Given the description of an element on the screen output the (x, y) to click on. 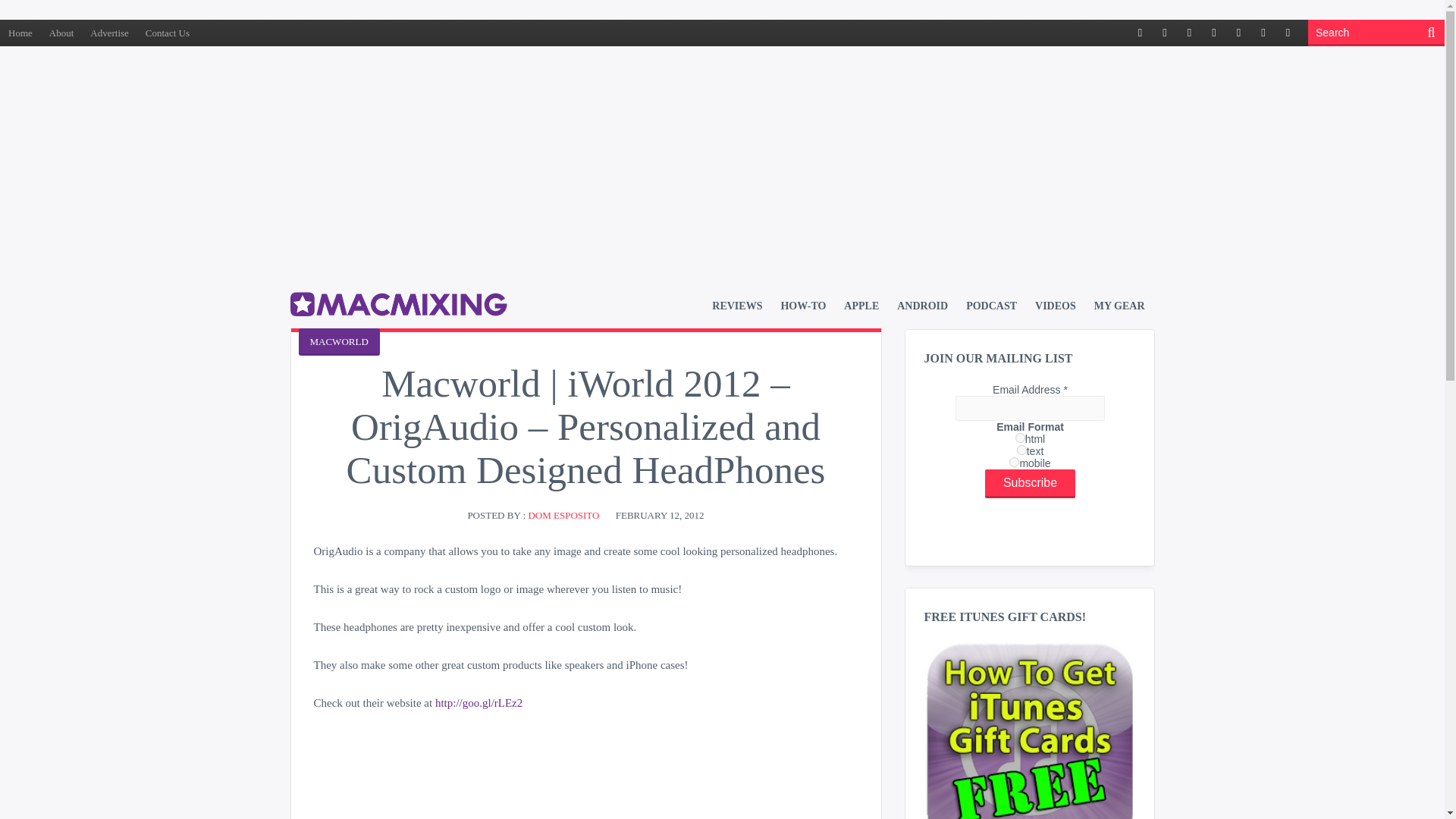
Subscribe (1030, 483)
Search (1364, 32)
Posts by Dom Esposito (562, 514)
mobile (1014, 461)
Home (20, 32)
REVIEWS (736, 305)
html (1019, 438)
Advertisement (721, 110)
text (1021, 450)
Contact Us (167, 32)
About (61, 32)
Advertise (108, 32)
HOW-TO (802, 305)
